Given the description of an element on the screen output the (x, y) to click on. 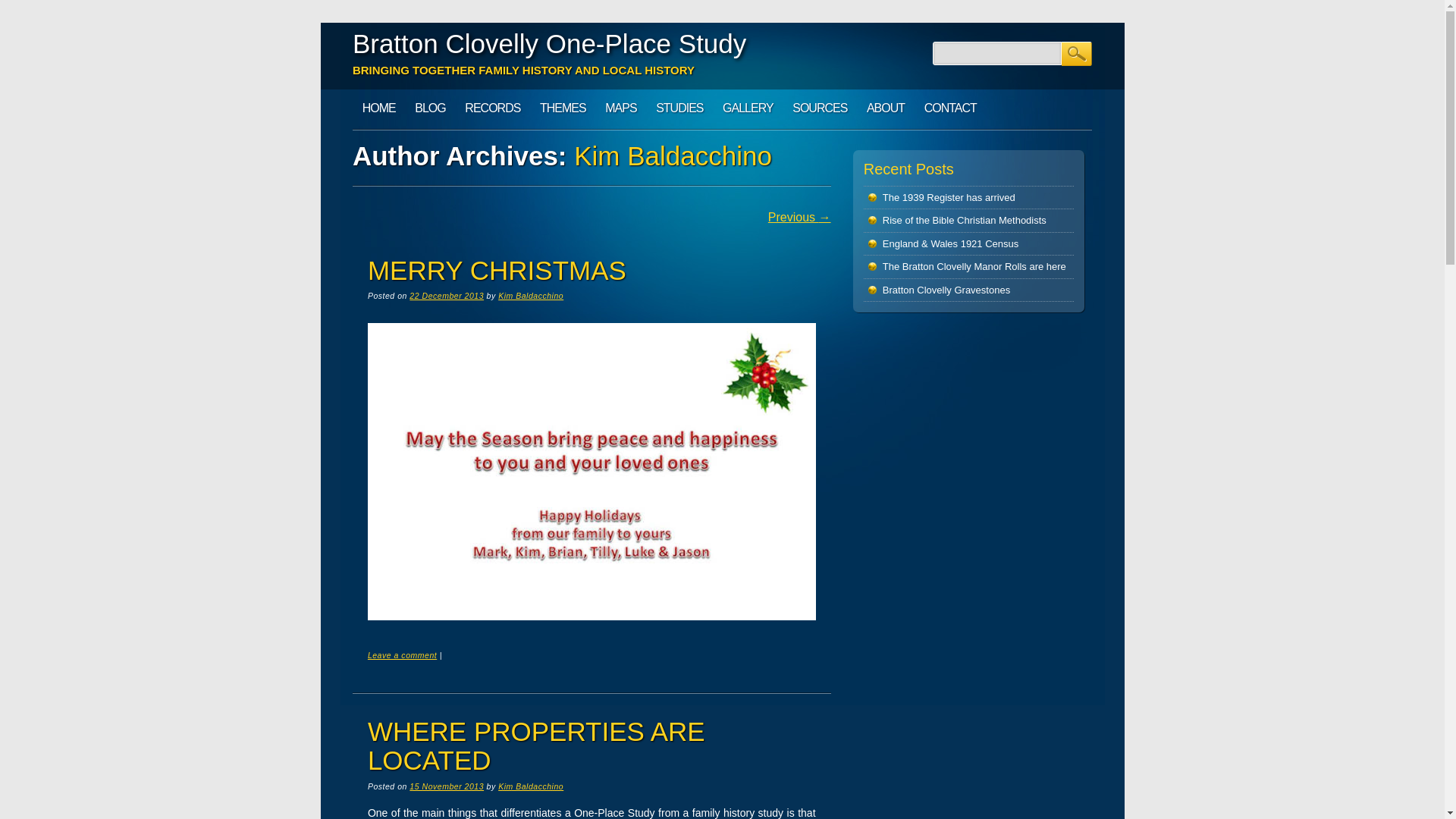
6:08 pm (446, 786)
GALLERY (748, 108)
BLOG (429, 108)
Bratton Clovelly One-Place Study (548, 43)
View all posts by Kim Baldacchino (530, 786)
THEMES (562, 108)
CONTACT (950, 108)
MAPS (620, 108)
Search (1076, 53)
RECORDS (493, 108)
